Given the description of an element on the screen output the (x, y) to click on. 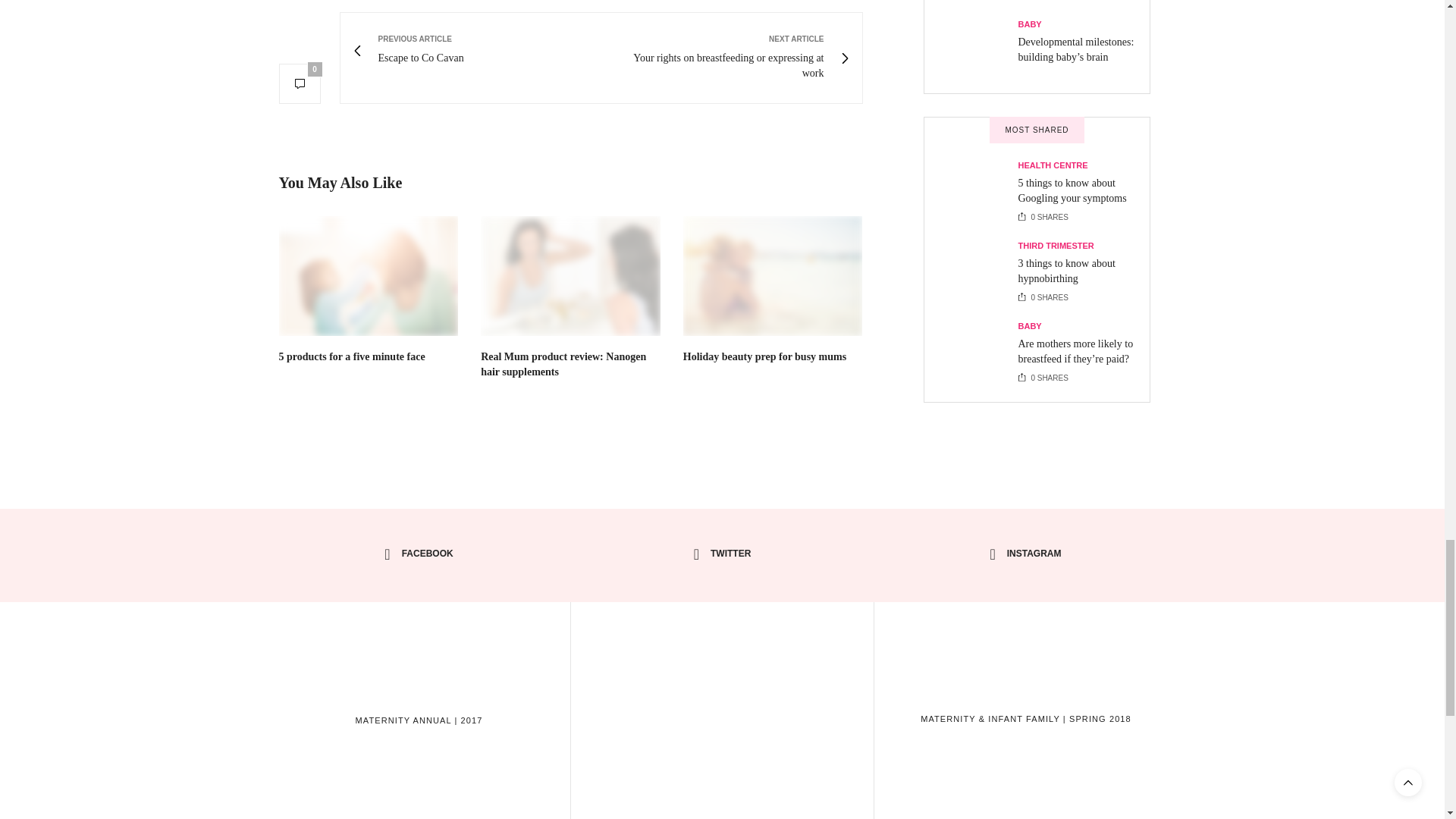
Holiday beauty prep for busy mums (763, 356)
Real Mum product review: Nanogen hair supplements (570, 275)
Real Mum product review: Nanogen hair supplements (563, 364)
5 products for a five minute face (368, 275)
Holiday beauty prep for busy mums (772, 275)
5 products for a five minute face (352, 356)
